Given the description of an element on the screen output the (x, y) to click on. 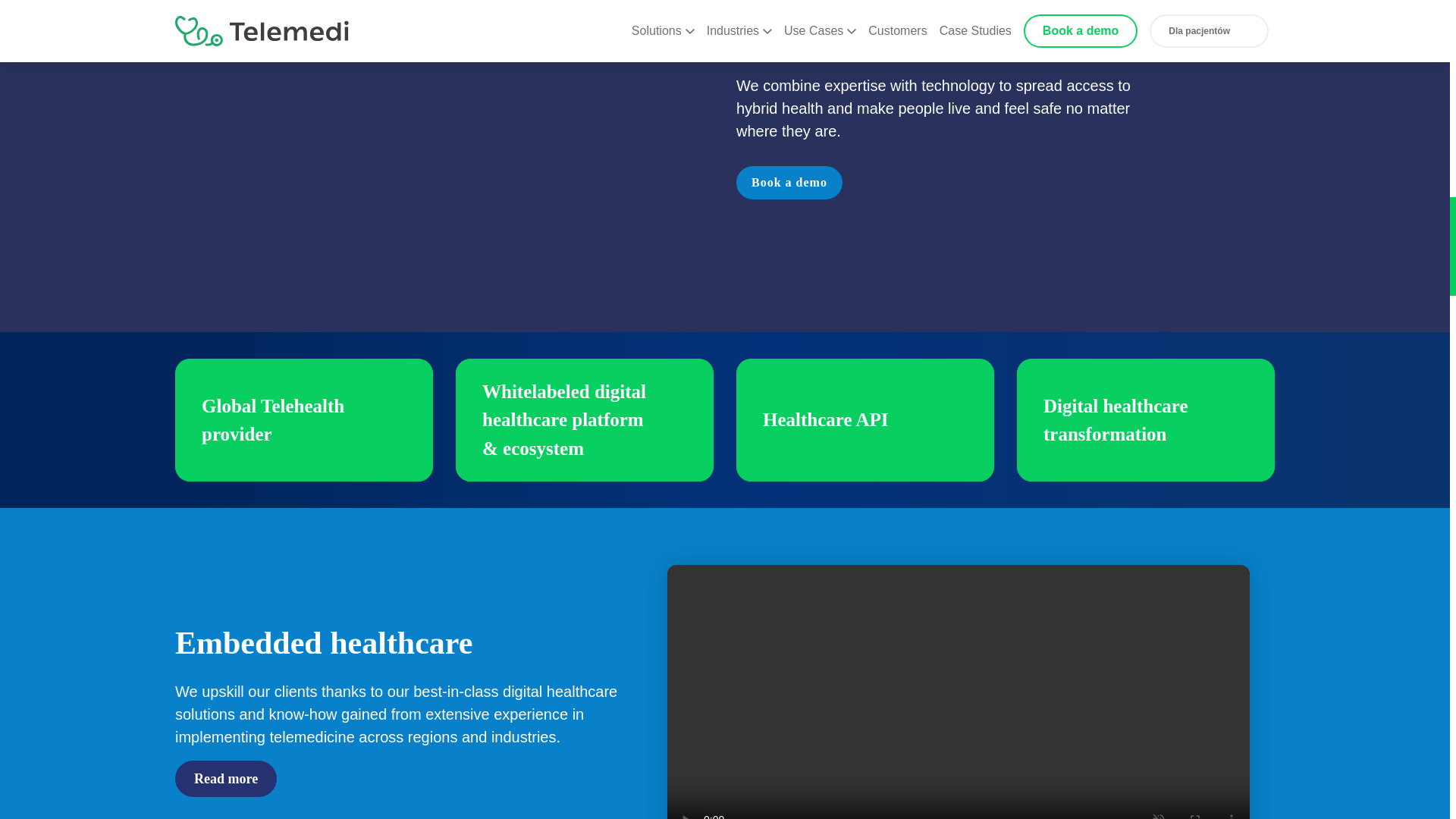
Book a demo (789, 182)
Global Telehealth provider (303, 420)
Read more (225, 778)
Digital healthcare transformation (1145, 420)
Healthcare API (865, 420)
